Given the description of an element on the screen output the (x, y) to click on. 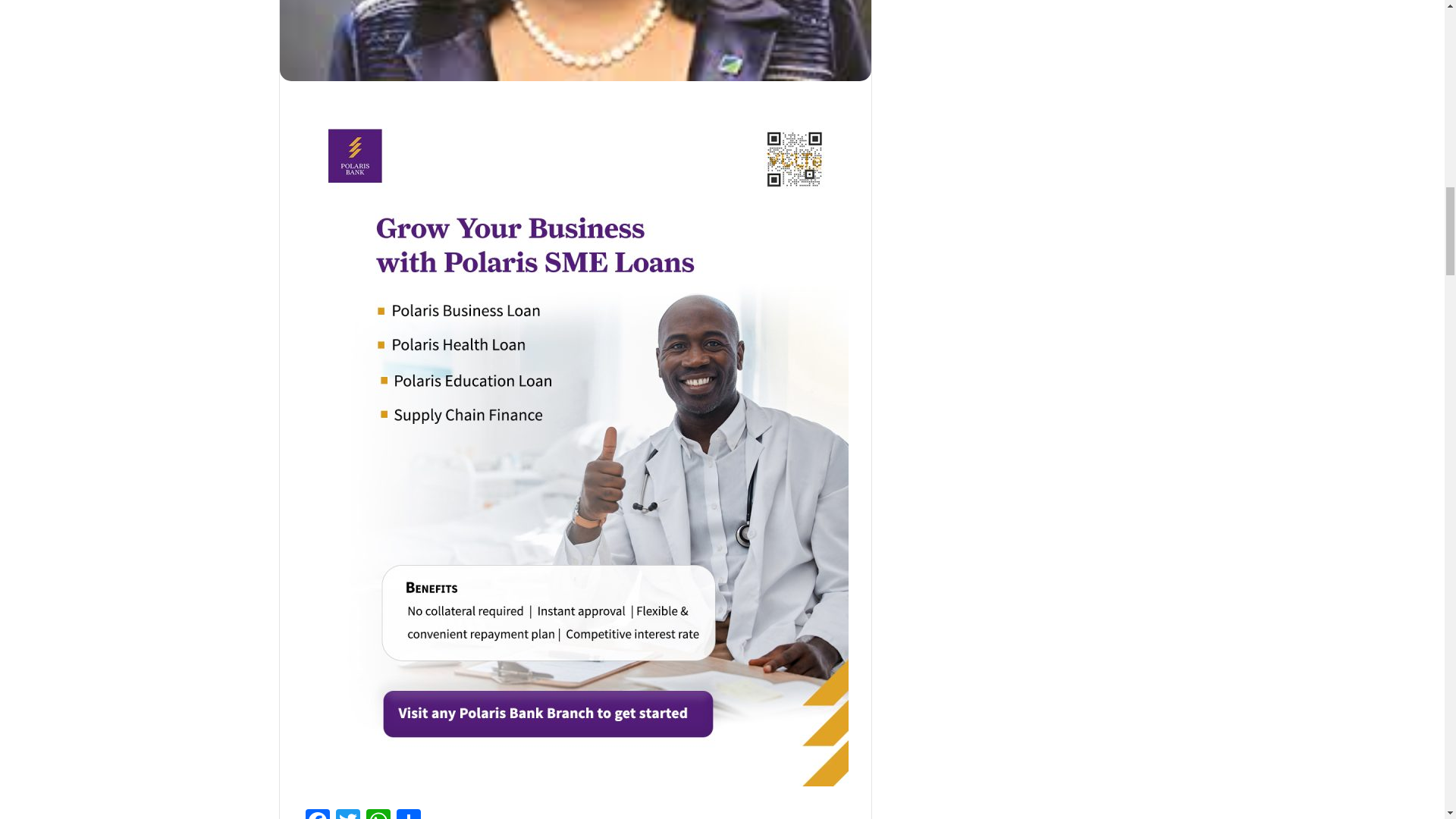
Facebook (316, 814)
WhatsApp (377, 814)
Twitter (346, 814)
WhatsApp (377, 814)
Facebook (316, 814)
Twitter (346, 814)
